Given the description of an element on the screen output the (x, y) to click on. 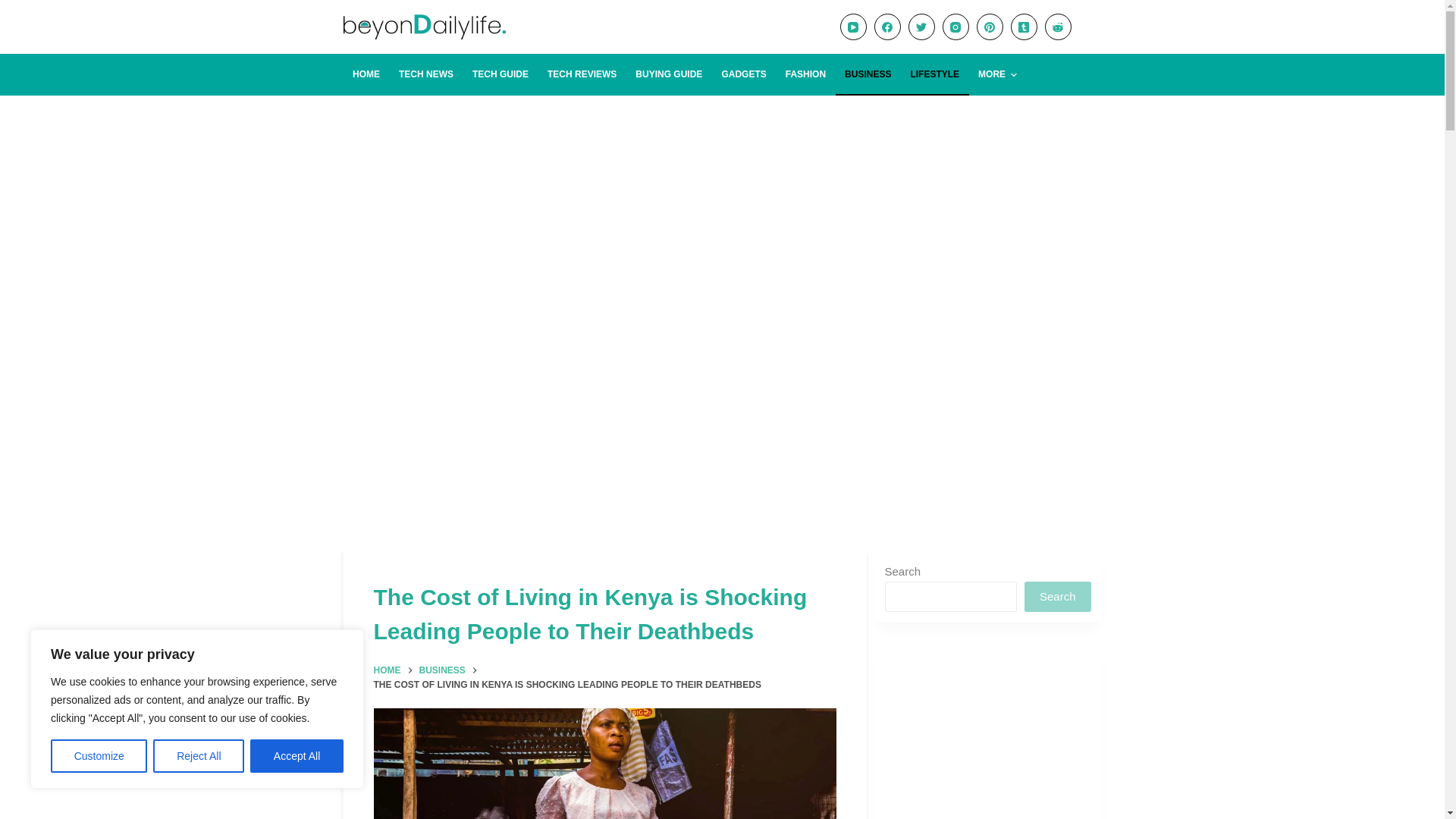
Accept All (296, 756)
Customize (98, 756)
Skip to content (15, 7)
Reject All (198, 756)
